Given the description of an element on the screen output the (x, y) to click on. 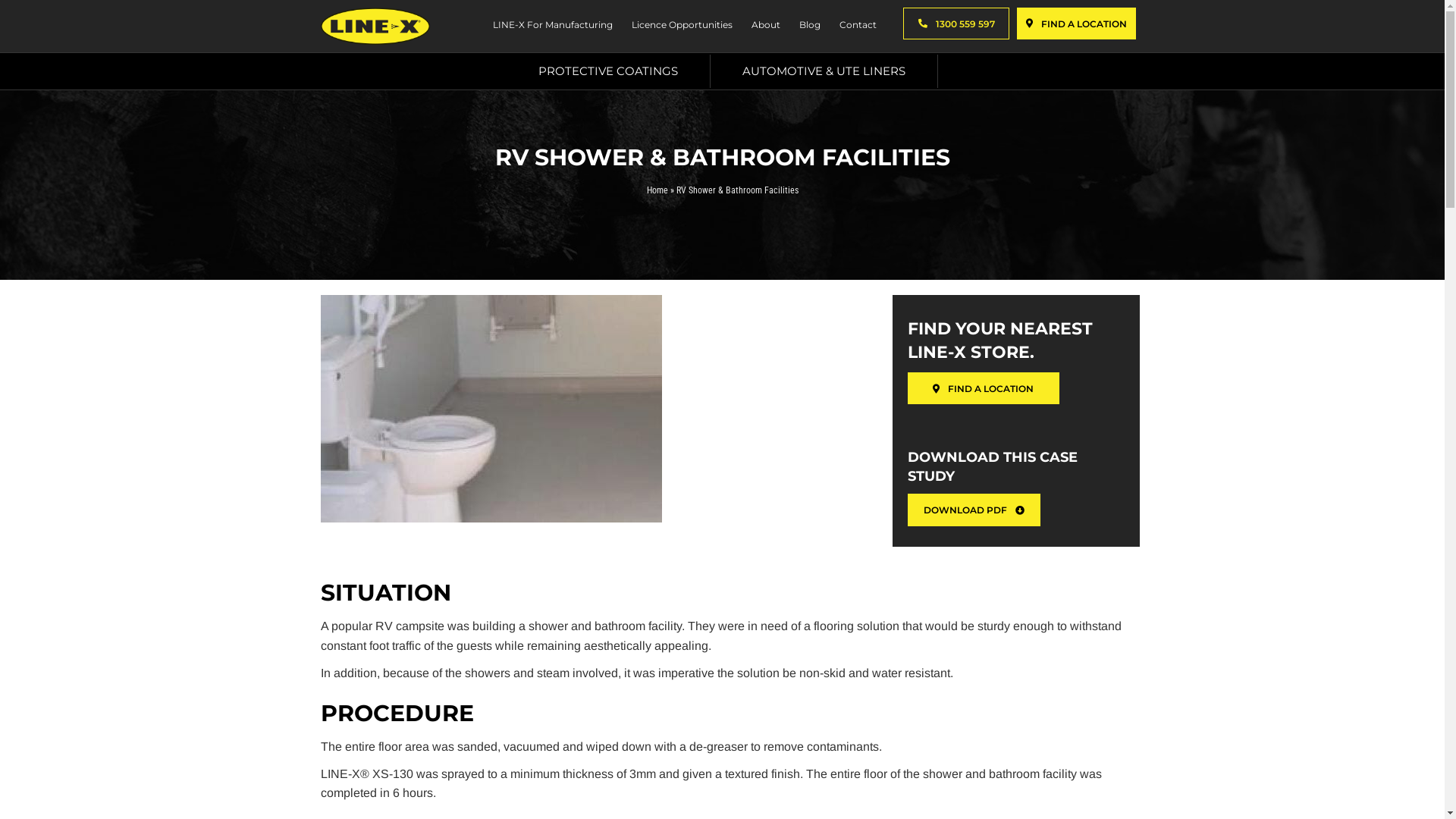
Blog Element type: text (807, 26)
1300 559 597 Element type: text (955, 23)
Line-X-Logo Element type: hover (374, 25)
AUTOMOTIVE & UTE LINERS Element type: text (824, 70)
FIND A LOCATION Element type: text (983, 388)
DOWNLOAD PDF Element type: text (973, 509)
Licence Opportunities Element type: text (680, 26)
RV shower & Bathroom Facilities Element type: hover (490, 408)
Contact Element type: text (856, 26)
FIND A LOCATION Element type: text (1075, 23)
PROTECTIVE COATINGS Element type: text (608, 70)
Home Element type: text (656, 189)
LINE-X For Manufacturing Element type: text (550, 26)
About Element type: text (763, 26)
